Given the description of an element on the screen output the (x, y) to click on. 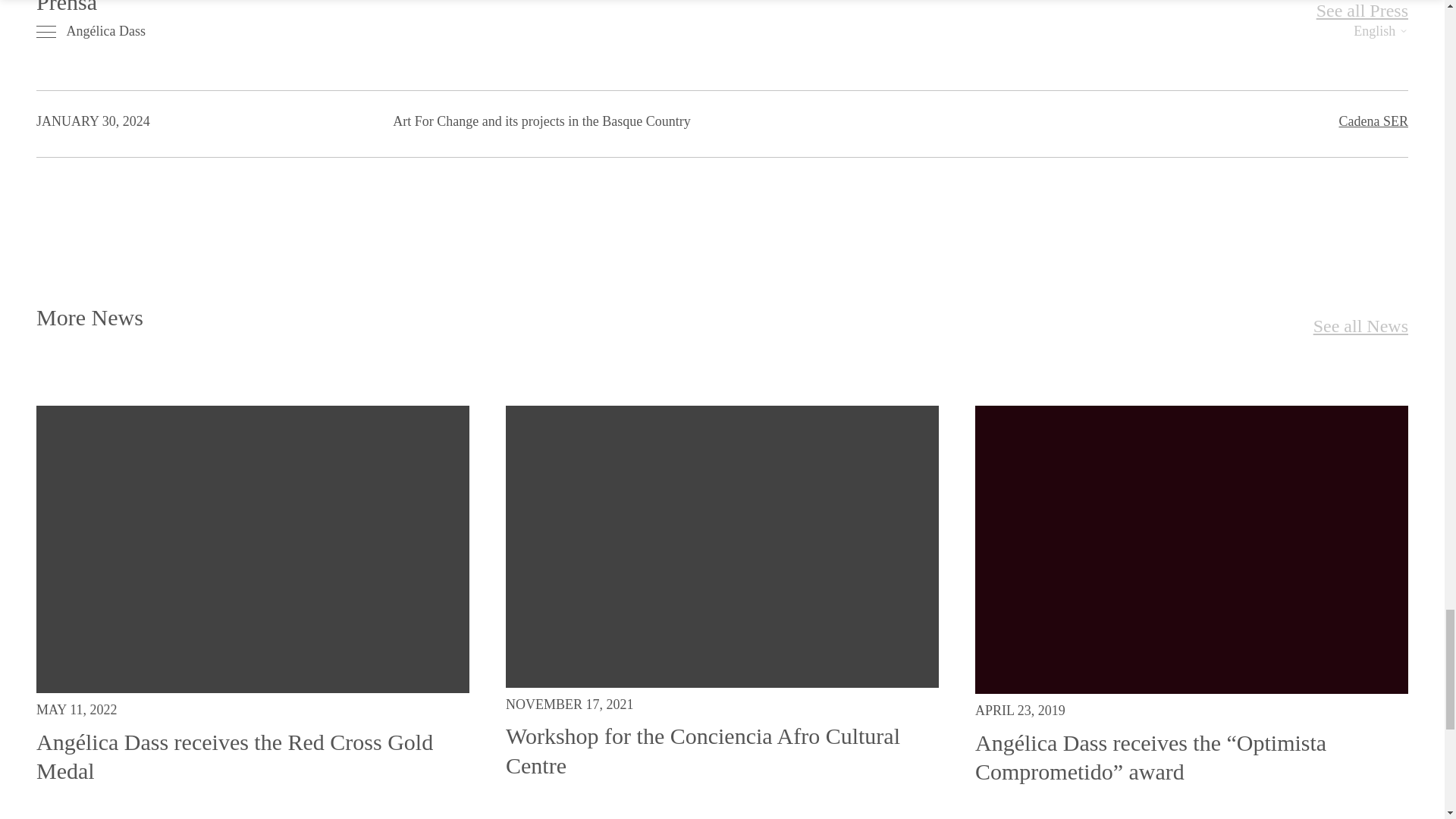
Cadena SER (1374, 120)
Workshop for the Conciencia Afro Cultural Centre (702, 750)
See all News (1360, 325)
See all Press (1361, 12)
